Given the description of an element on the screen output the (x, y) to click on. 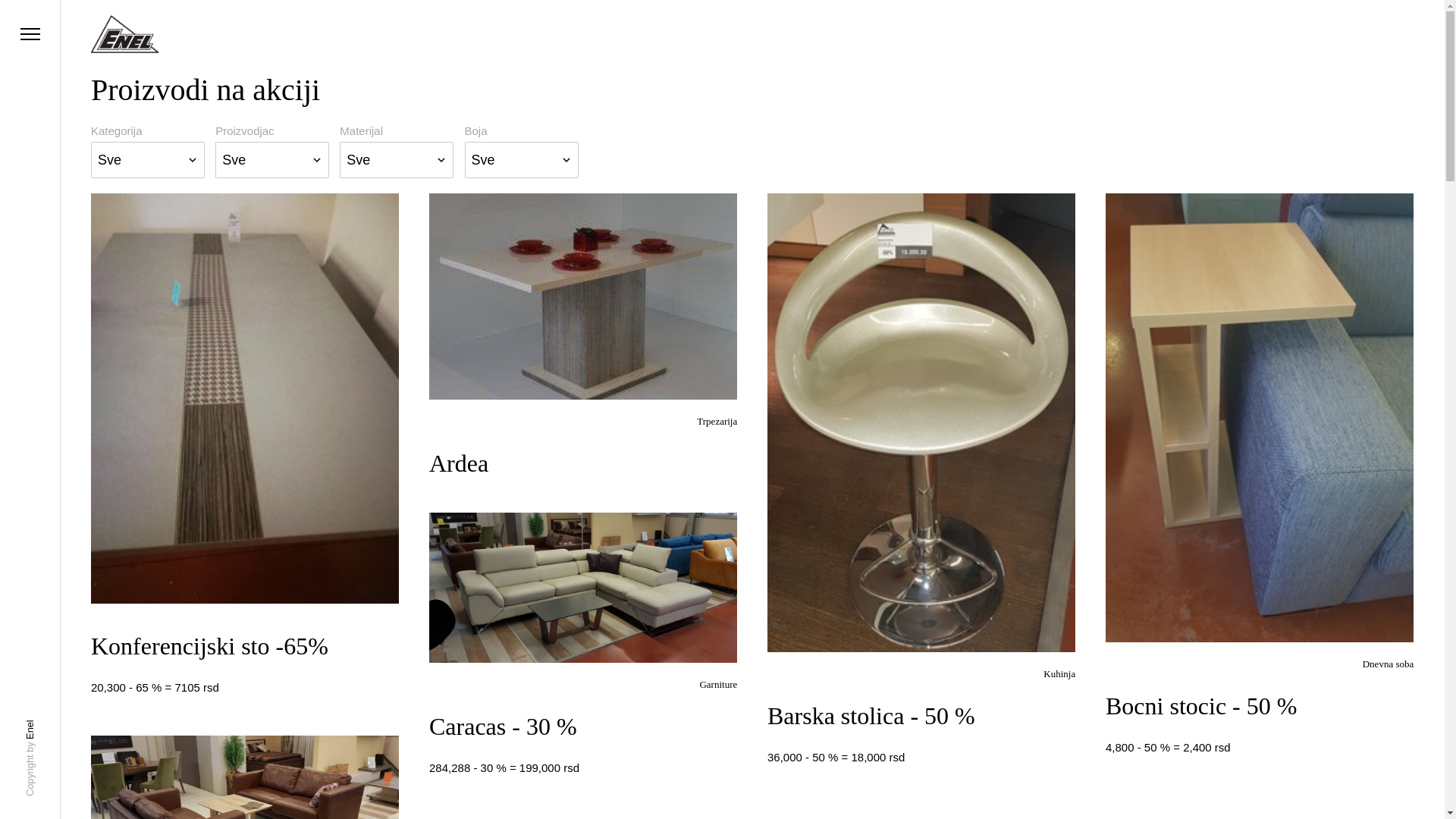
Enel Element type: text (33, 725)
Barska stolica - 50 % Element type: text (871, 715)
Trpezarija Element type: text (716, 420)
Dnevna soba Element type: text (1388, 663)
Konferencijski sto -65% Element type: text (209, 645)
Ardea Element type: text (458, 462)
Kuhinja Element type: text (1059, 673)
Bocni stocic - 50 % Element type: text (1200, 705)
Caracas - 30 % Element type: text (503, 726)
Garniture Element type: text (718, 684)
